Given the description of an element on the screen output the (x, y) to click on. 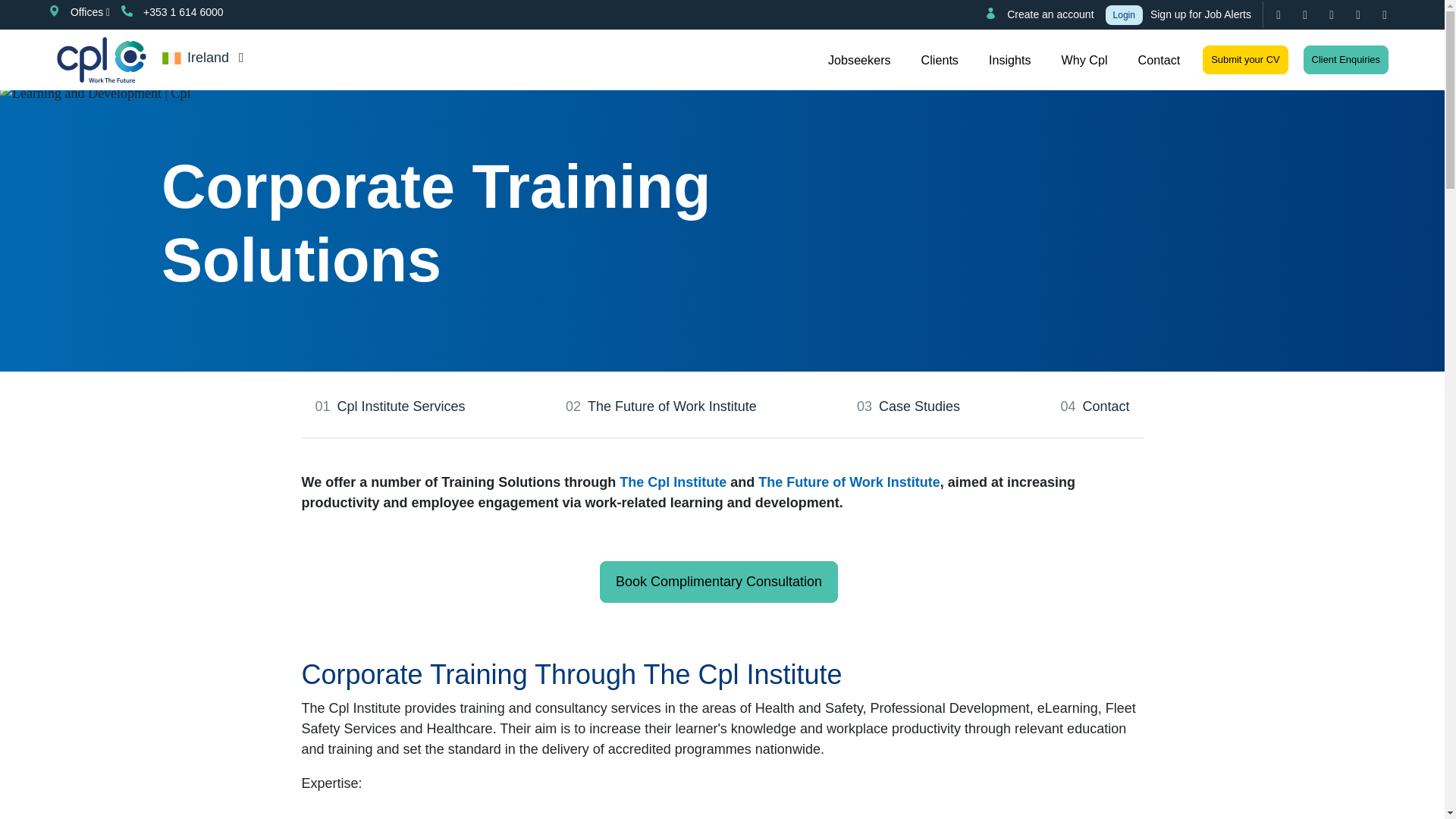
Offices (76, 12)
Create an account (1036, 14)
Login (1123, 14)
Sign up for Job Alerts (1202, 14)
CPL (100, 59)
Ireland (205, 57)
Jobseekers (859, 59)
